Given the description of an element on the screen output the (x, y) to click on. 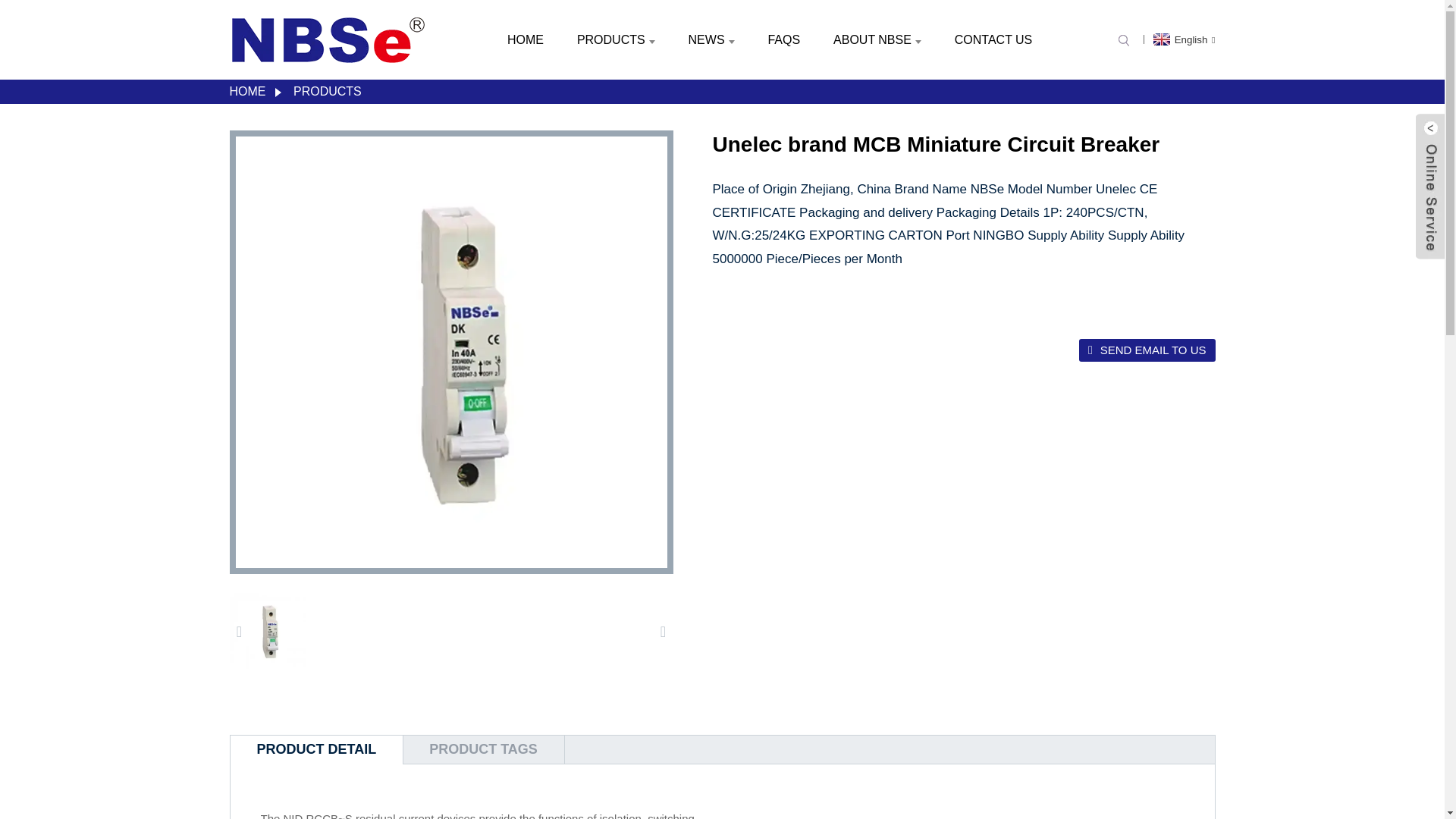
HOME (525, 39)
CONTACT US (994, 39)
ABOUT NBSE (876, 39)
PRODUCTS (615, 39)
NEWS (711, 39)
English (1182, 39)
FAQS (784, 39)
